Given the description of an element on the screen output the (x, y) to click on. 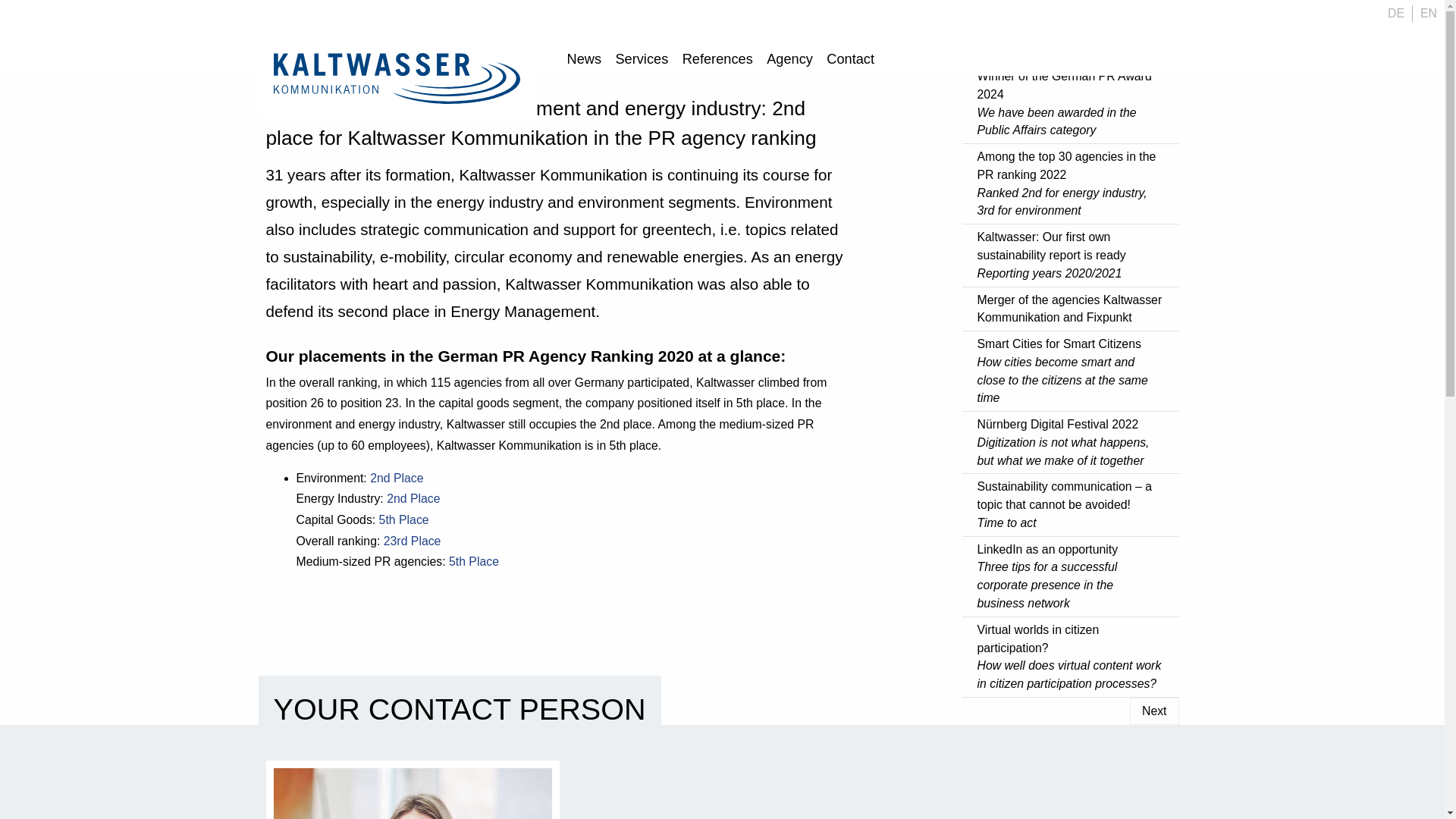
DE (1396, 13)
Agency (789, 60)
2nd Place (397, 477)
News (583, 60)
5th Place (403, 519)
5th Place (473, 561)
News (583, 60)
References (717, 60)
back to the start page (396, 77)
Services (641, 60)
Services (641, 60)
2nd Place (413, 498)
23rd Place  (414, 540)
Contact (850, 60)
